Given the description of an element on the screen output the (x, y) to click on. 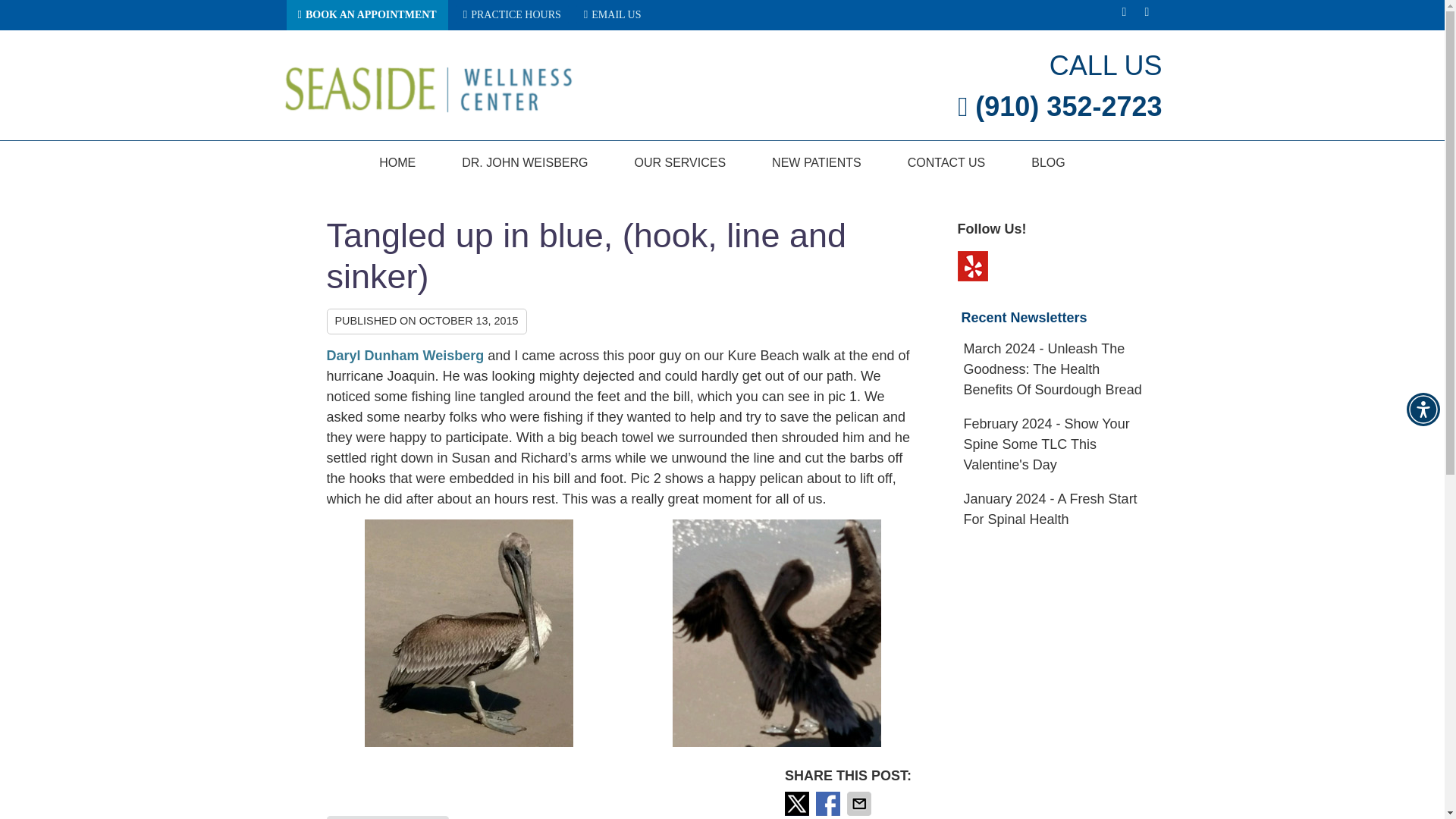
Contact (612, 14)
NEW PATIENTS (817, 162)
BOOK AN APPOINTMENT (367, 15)
Welcome to Seaside Wellness Center (427, 109)
CONTACT US (947, 162)
HOME (397, 162)
Seaside Wellness Center (427, 109)
Yelp Social Button (1146, 14)
Google Social Button (1123, 14)
BLOG (1048, 162)
Recent Newlsetters List (1055, 434)
Share on Facebook (829, 803)
DR. JOHN WEISBERG (525, 162)
Share via Email (861, 803)
